Given the description of an element on the screen output the (x, y) to click on. 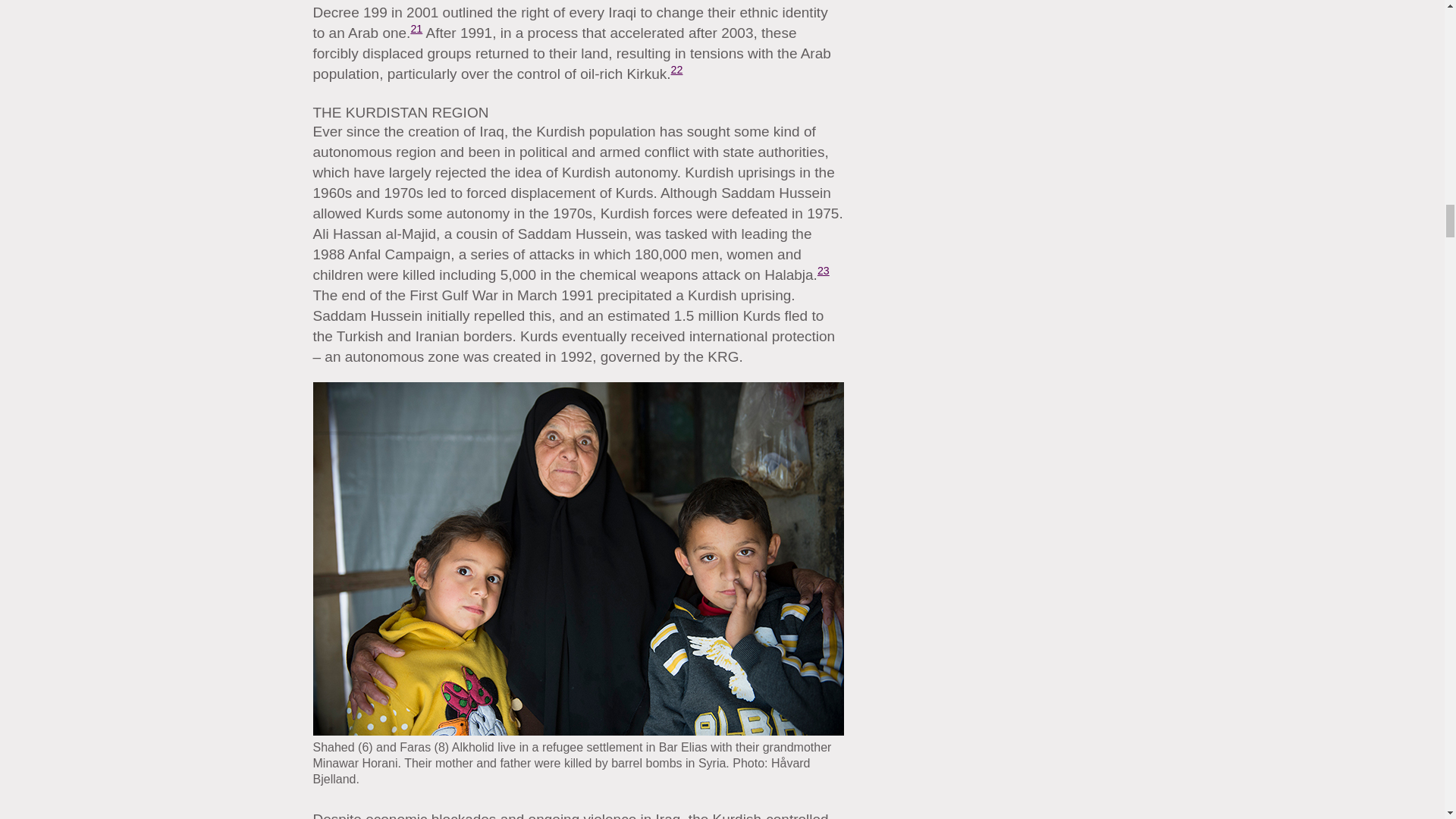
23 (822, 269)
22 (676, 69)
21 (416, 28)
